Given the description of an element on the screen output the (x, y) to click on. 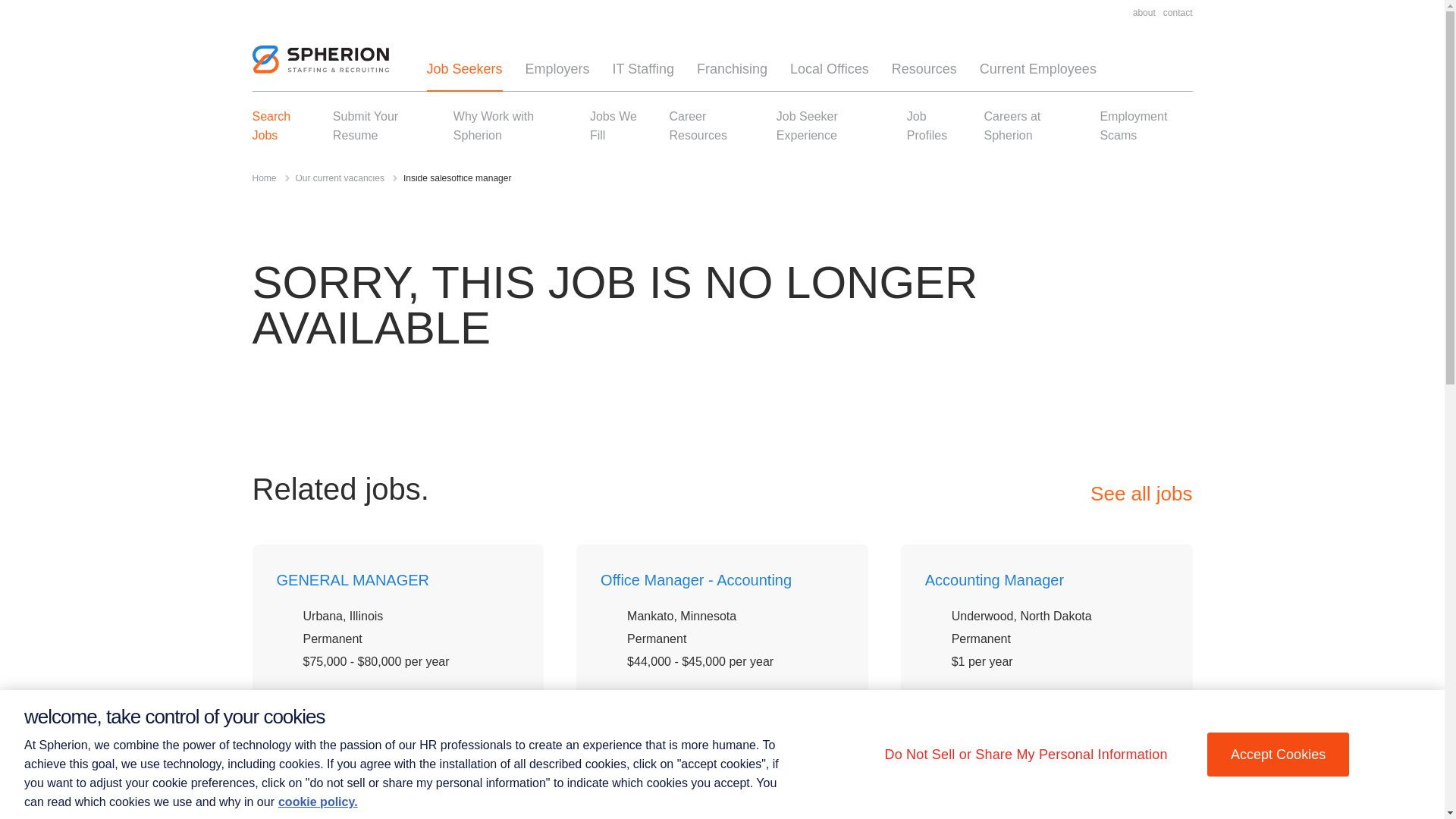
Submit Your Resume (365, 125)
Jobs We Fill (613, 125)
Job Seekers (464, 68)
Resources (923, 68)
about (1144, 12)
Career Resources (697, 125)
Local Offices (829, 68)
Franchising (732, 68)
IT Staffing (643, 68)
Job Seeker Experience (807, 125)
